Given the description of an element on the screen output the (x, y) to click on. 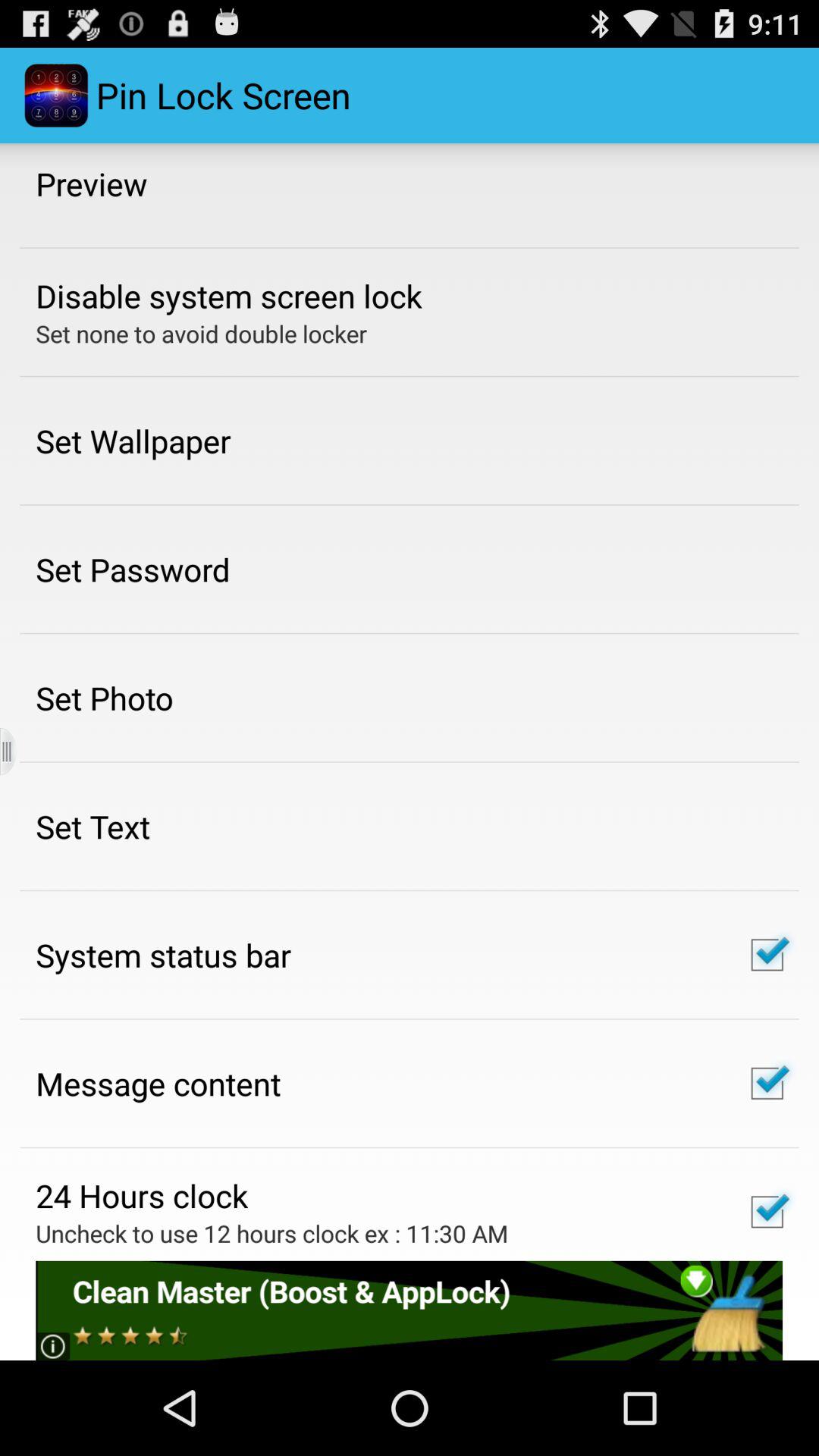
share articlee (408, 1310)
